Given the description of an element on the screen output the (x, y) to click on. 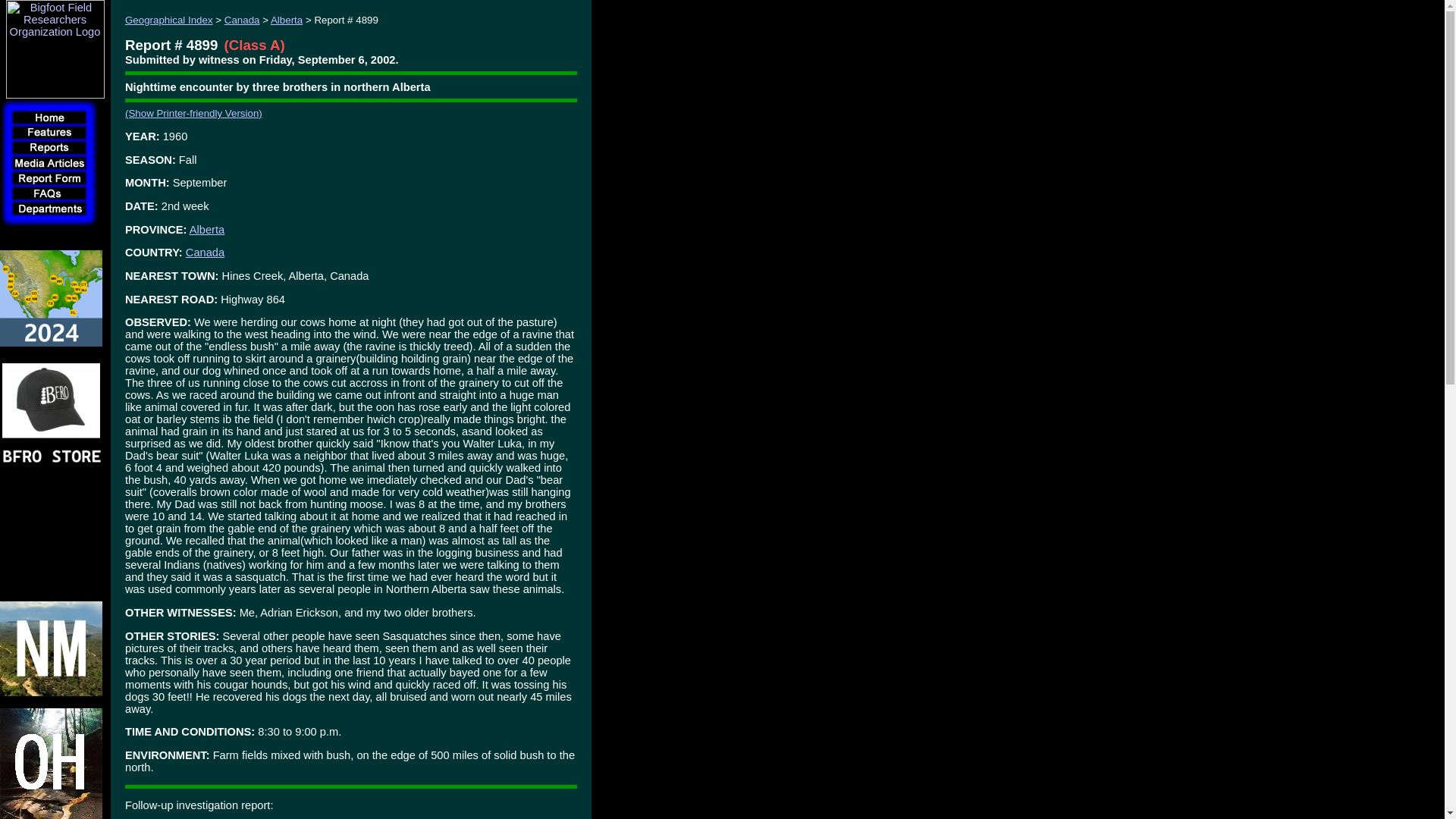
Alberta (286, 19)
Geographical Index (168, 19)
Canada (205, 252)
Alberta (206, 229)
Canada (242, 19)
